Given the description of an element on the screen output the (x, y) to click on. 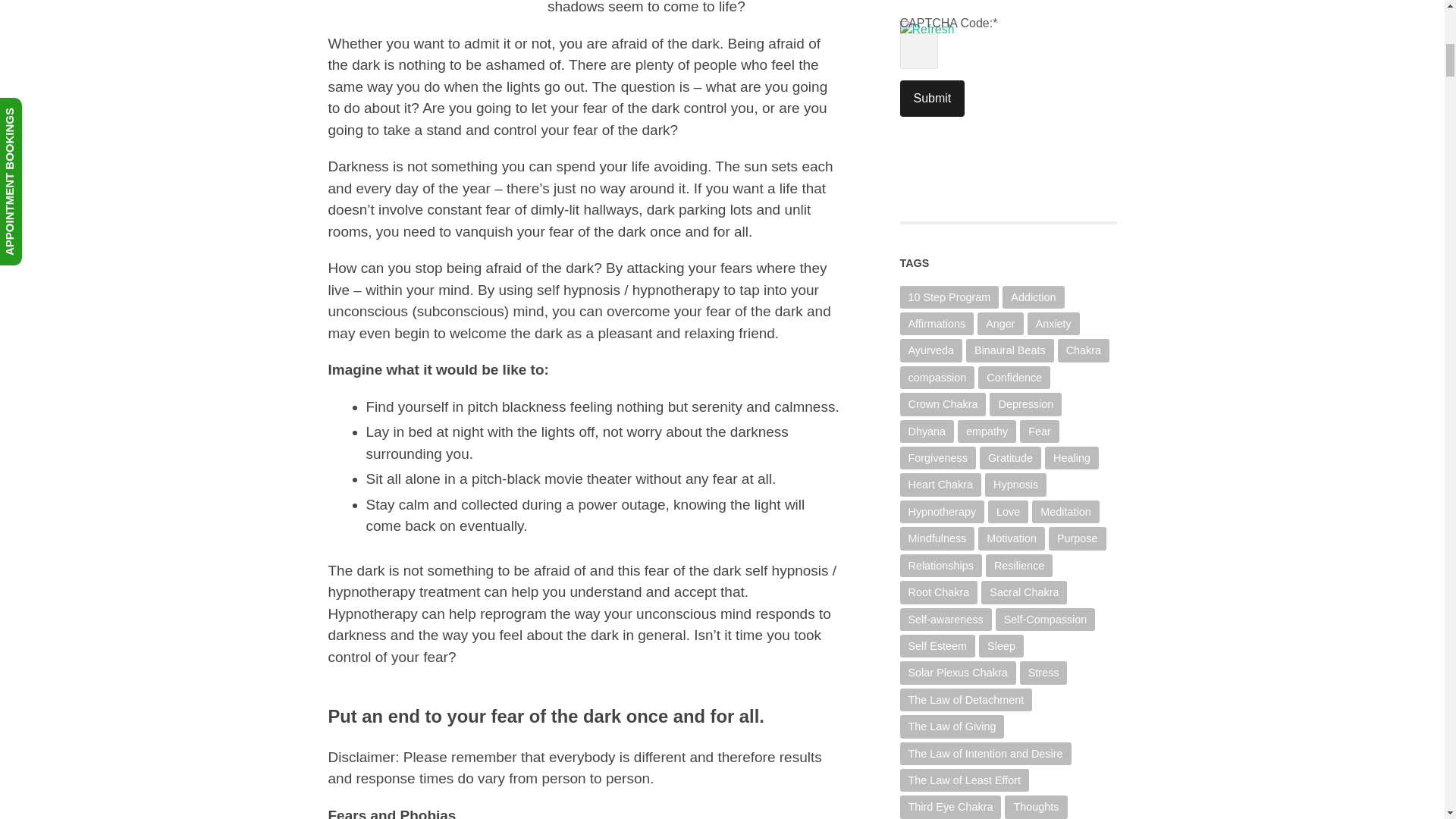
Submit (931, 98)
CAPTCHA (948, 3)
Refresh (948, 37)
